Given the description of an element on the screen output the (x, y) to click on. 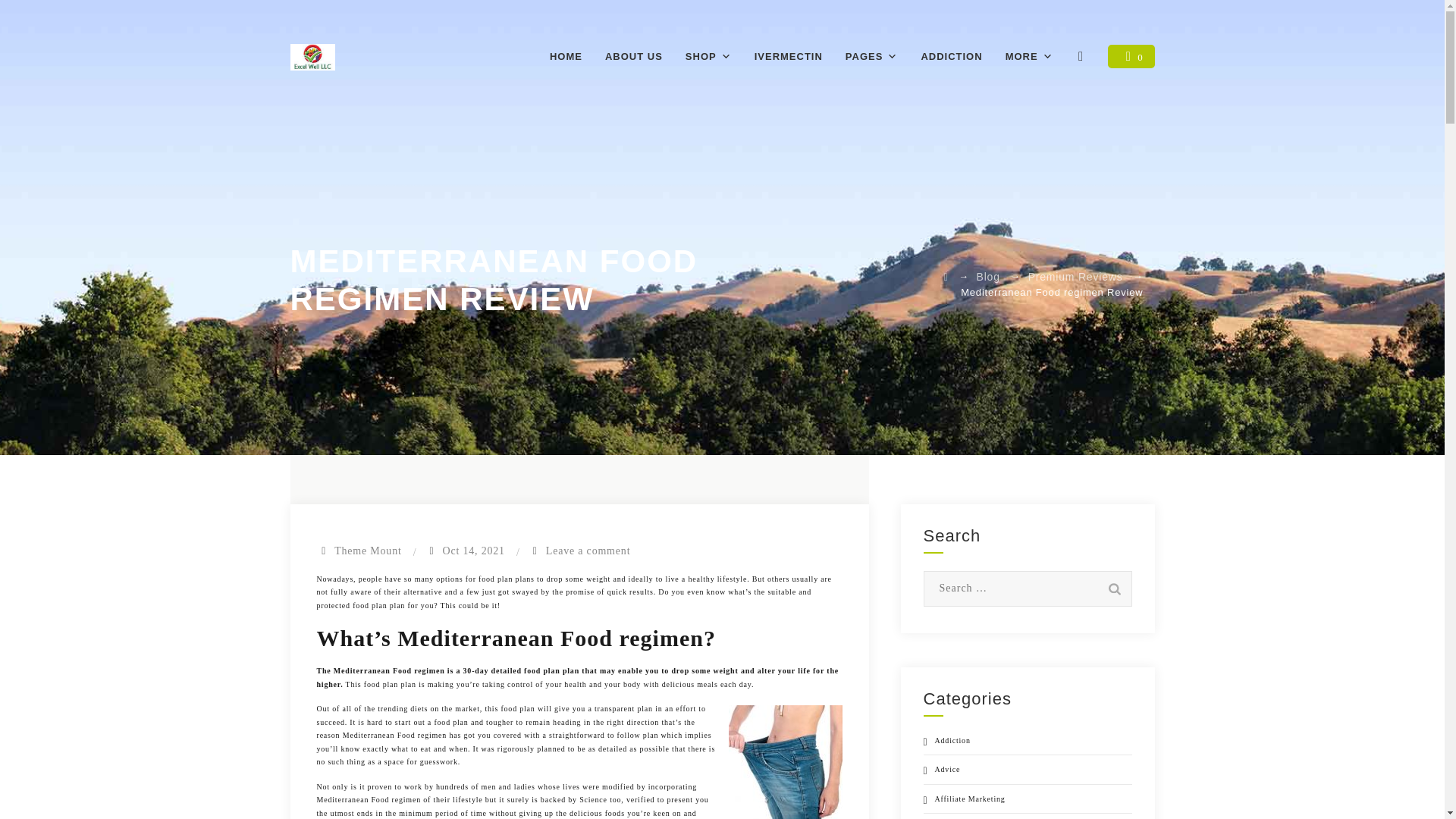
Search (1113, 588)
Go to Blog. (988, 275)
0 (1131, 56)
Go to the Premium Reviews Category archives. (1074, 275)
Search (1113, 588)
